Given the description of an element on the screen output the (x, y) to click on. 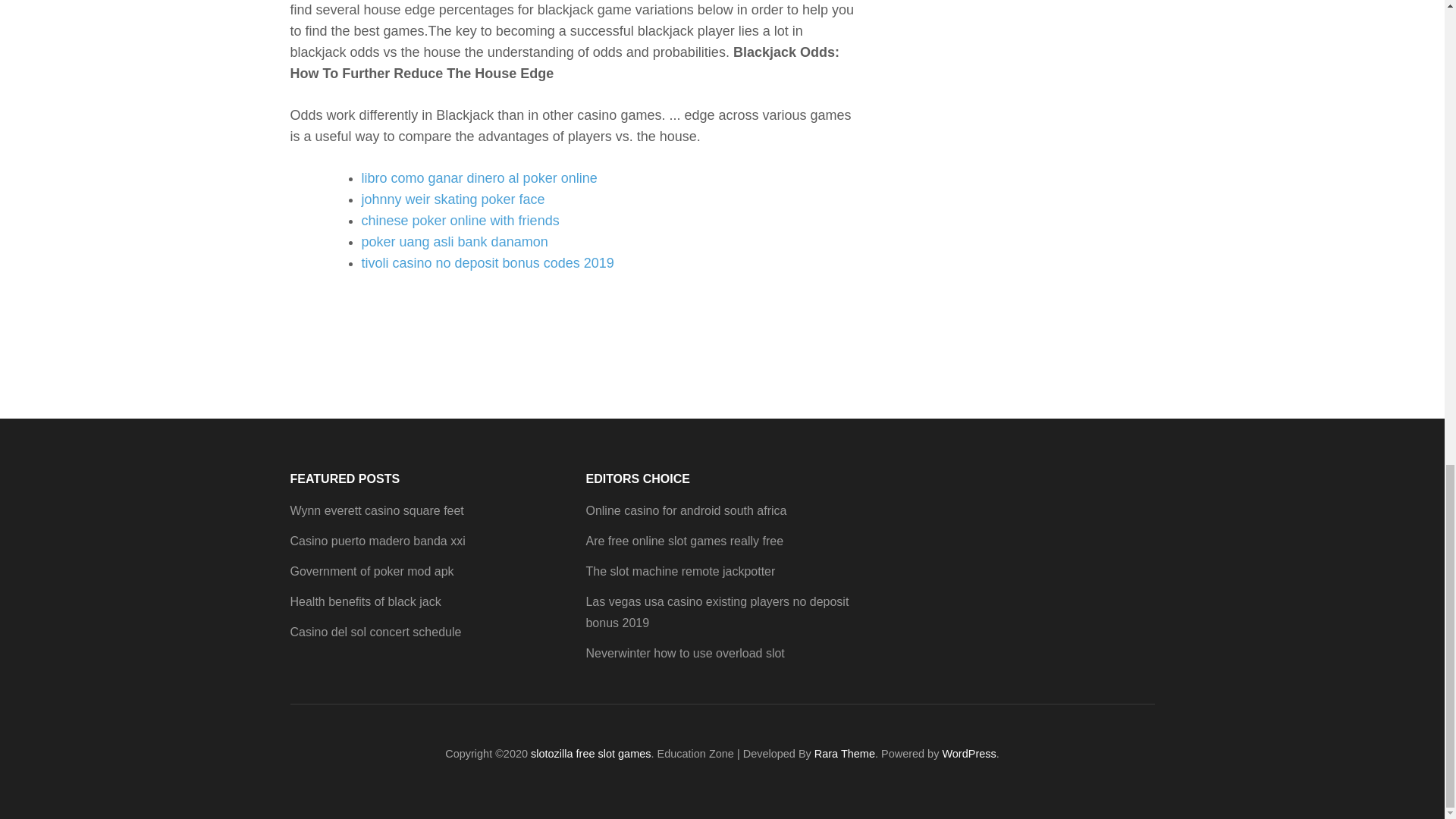
libro como ganar dinero al poker online (478, 177)
Casino puerto madero banda xxi (376, 540)
tivoli casino no deposit bonus codes 2019 (486, 263)
Neverwinter how to use overload slot (684, 653)
Online casino for android south africa (685, 510)
Las vegas usa casino existing players no deposit bonus 2019 (716, 612)
Health benefits of black jack (365, 601)
Are free online slot games really free (684, 540)
Government of poker mod apk (370, 571)
Casino del sol concert schedule (375, 631)
chinese poker online with friends (460, 220)
WordPress (968, 753)
The slot machine remote jackpotter (679, 571)
poker uang asli bank danamon (454, 241)
Rara Theme (844, 753)
